Given the description of an element on the screen output the (x, y) to click on. 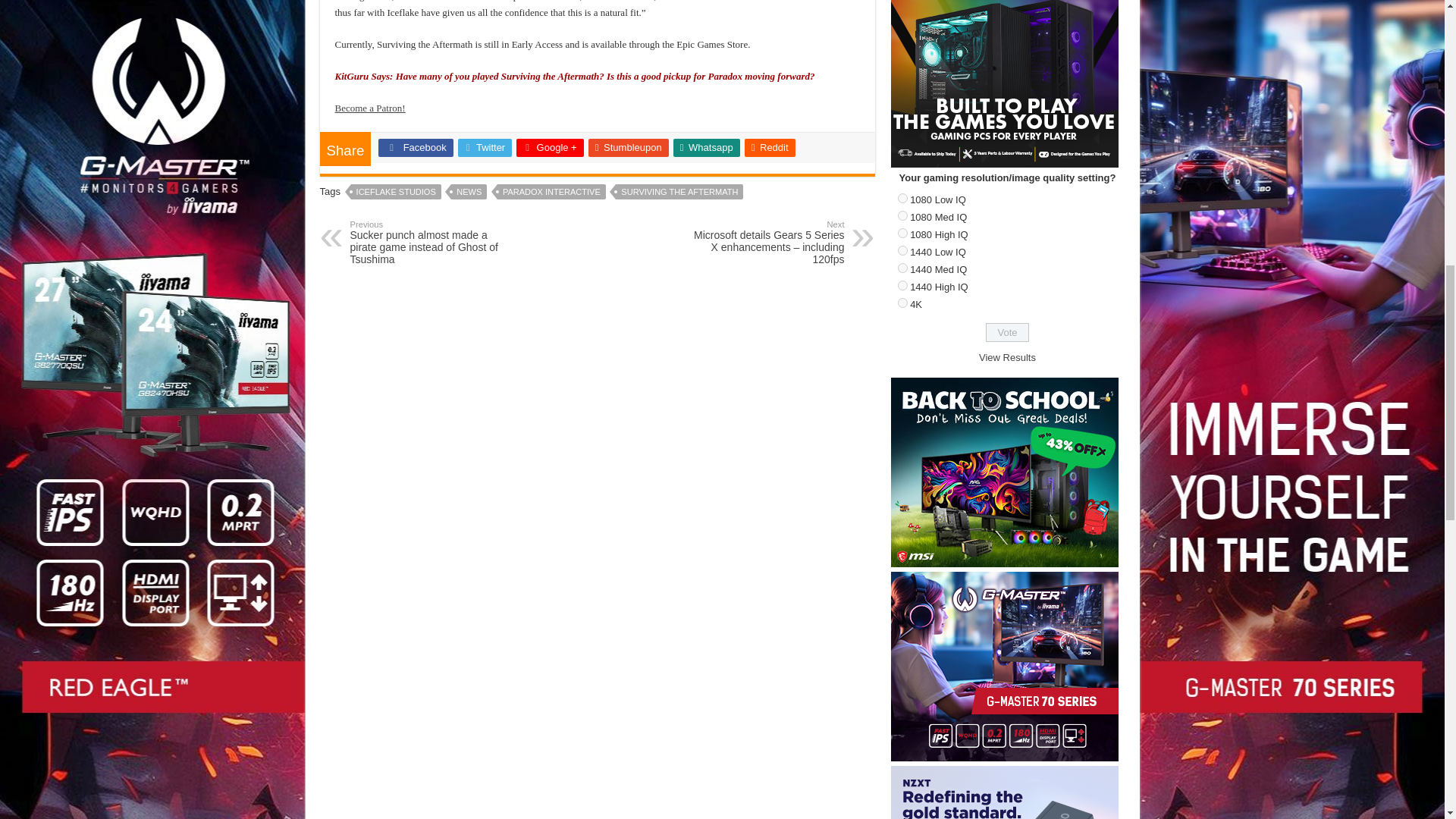
Twitter (485, 147)
Facebook (415, 147)
1383 (902, 267)
Stumbleupon (628, 147)
1382 (902, 250)
Become a Patron! (370, 107)
1384 (902, 285)
1385 (902, 302)
1379 (902, 198)
   Vote    (1007, 332)
